Given the description of an element on the screen output the (x, y) to click on. 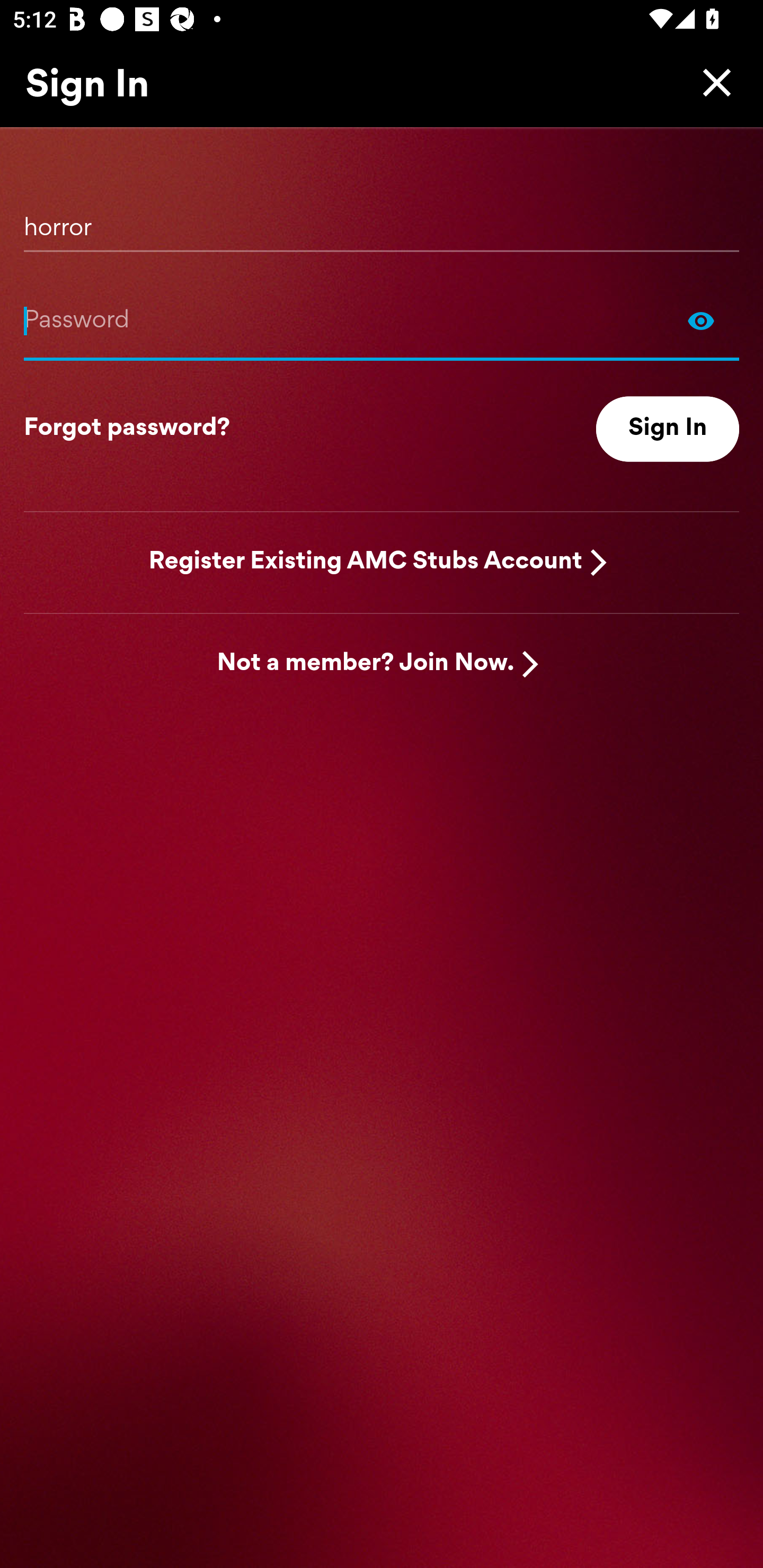
Close (712, 82)
horror (381, 220)
Show Password (381, 320)
Show Password (701, 320)
Forgot password? (126, 428)
Sign In (667, 428)
Register Existing AMC Stubs Account (365, 561)
Not a member? Join Now. (365, 663)
